Given the description of an element on the screen output the (x, y) to click on. 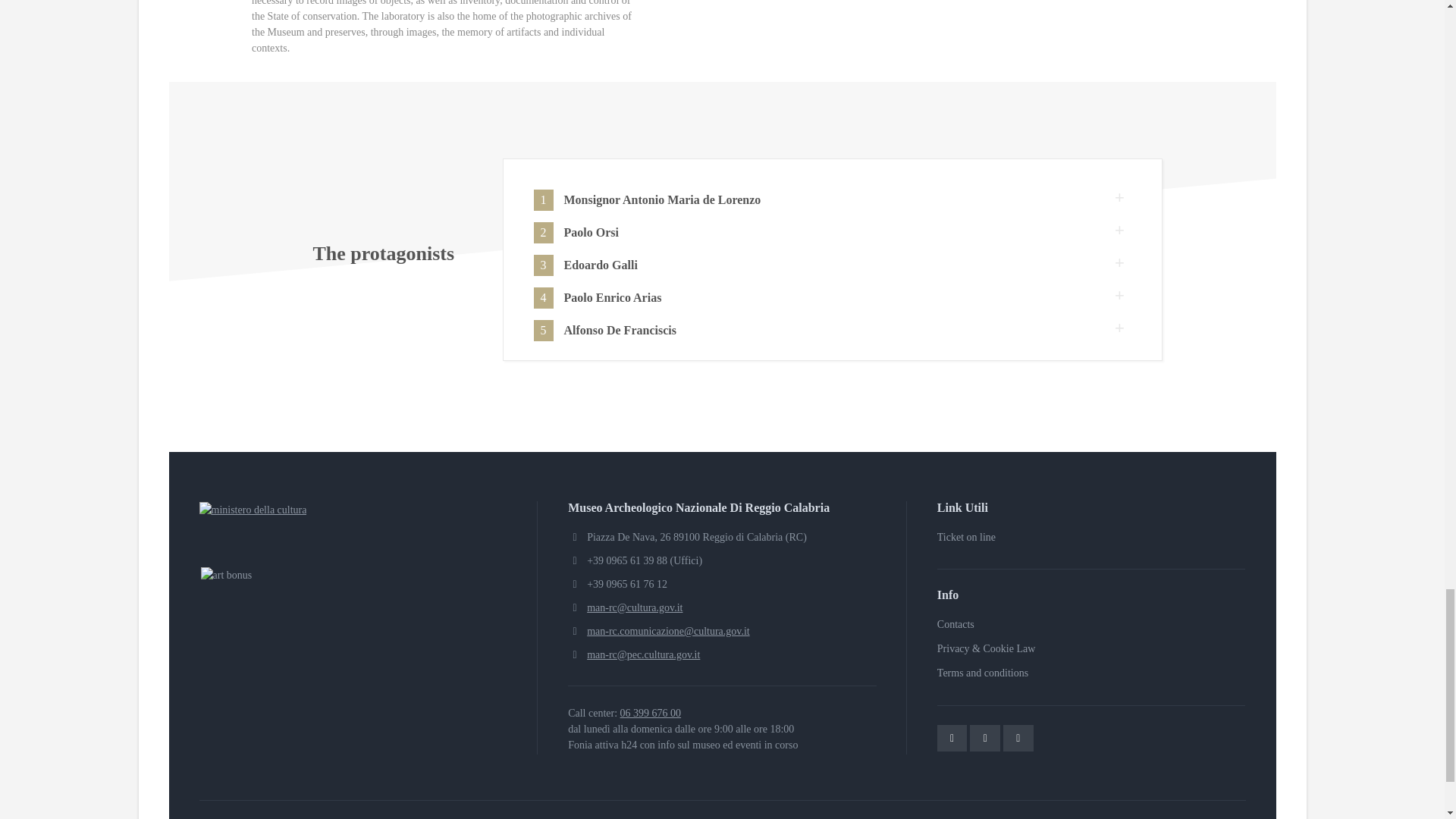
Instagram (1018, 737)
Facebook (984, 737)
Twitter (952, 737)
